Given the description of an element on the screen output the (x, y) to click on. 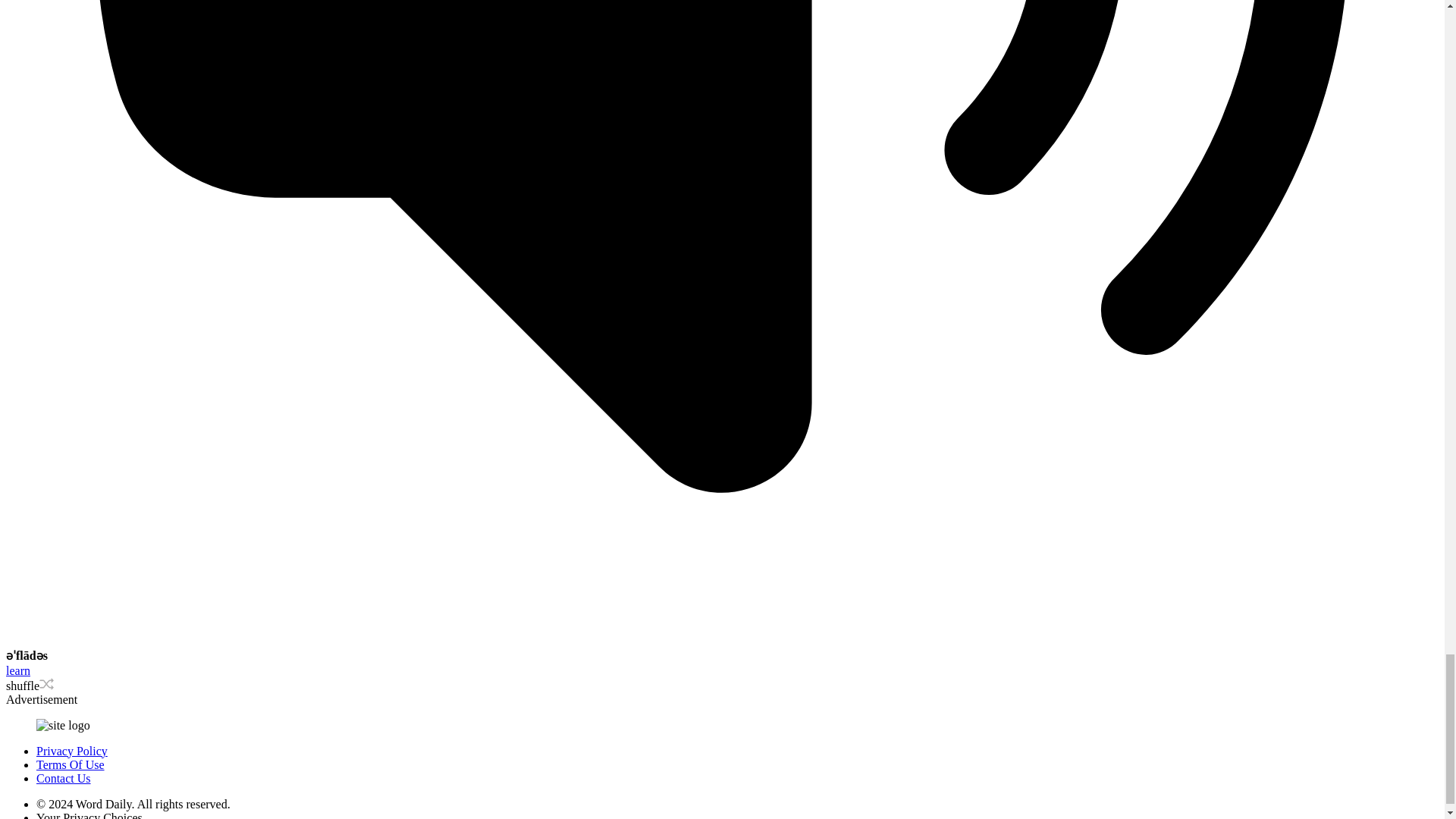
Privacy Policy (71, 750)
learn (17, 670)
Terms Of Use (70, 764)
shuffle (29, 685)
Contact Us (63, 778)
